Given the description of an element on the screen output the (x, y) to click on. 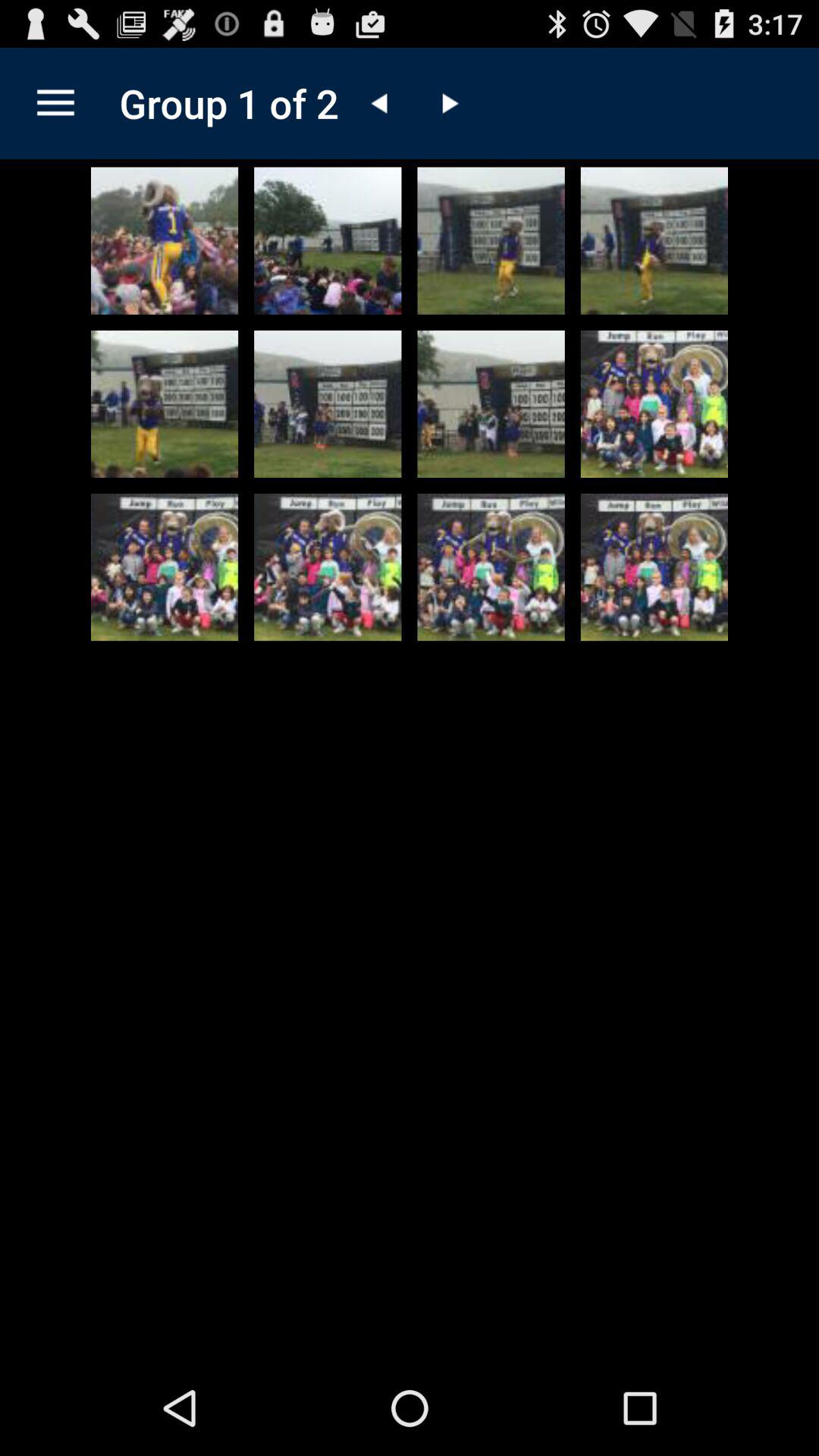
select picture (490, 566)
